Given the description of an element on the screen output the (x, y) to click on. 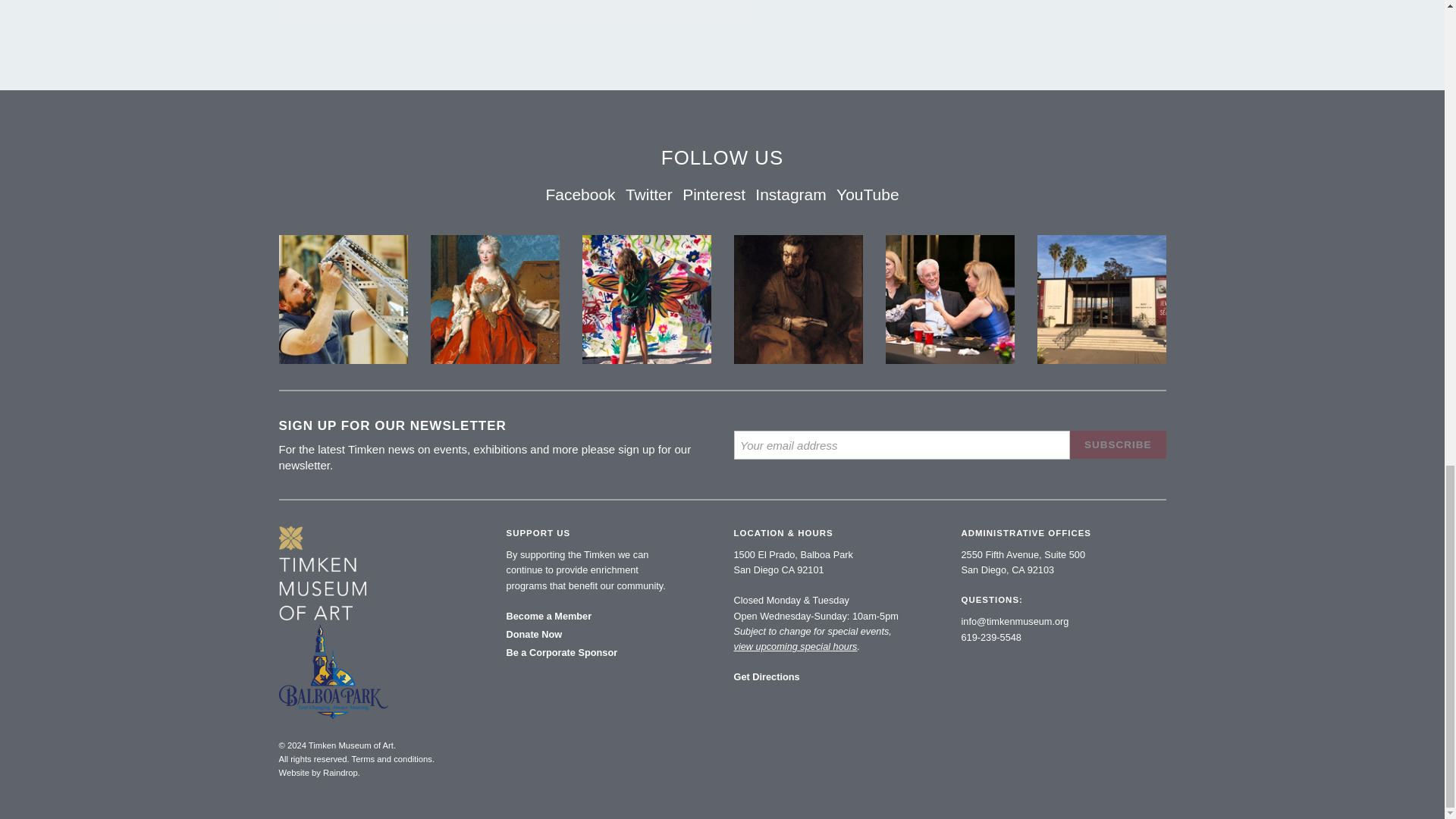
Subscribe (1118, 444)
Instagram 2 (1100, 299)
Twitter 2 (949, 299)
Instagram 1 (646, 299)
Facebook 2 (797, 299)
Facebook 1 (342, 299)
Twitter 1 (494, 299)
